Given the description of an element on the screen output the (x, y) to click on. 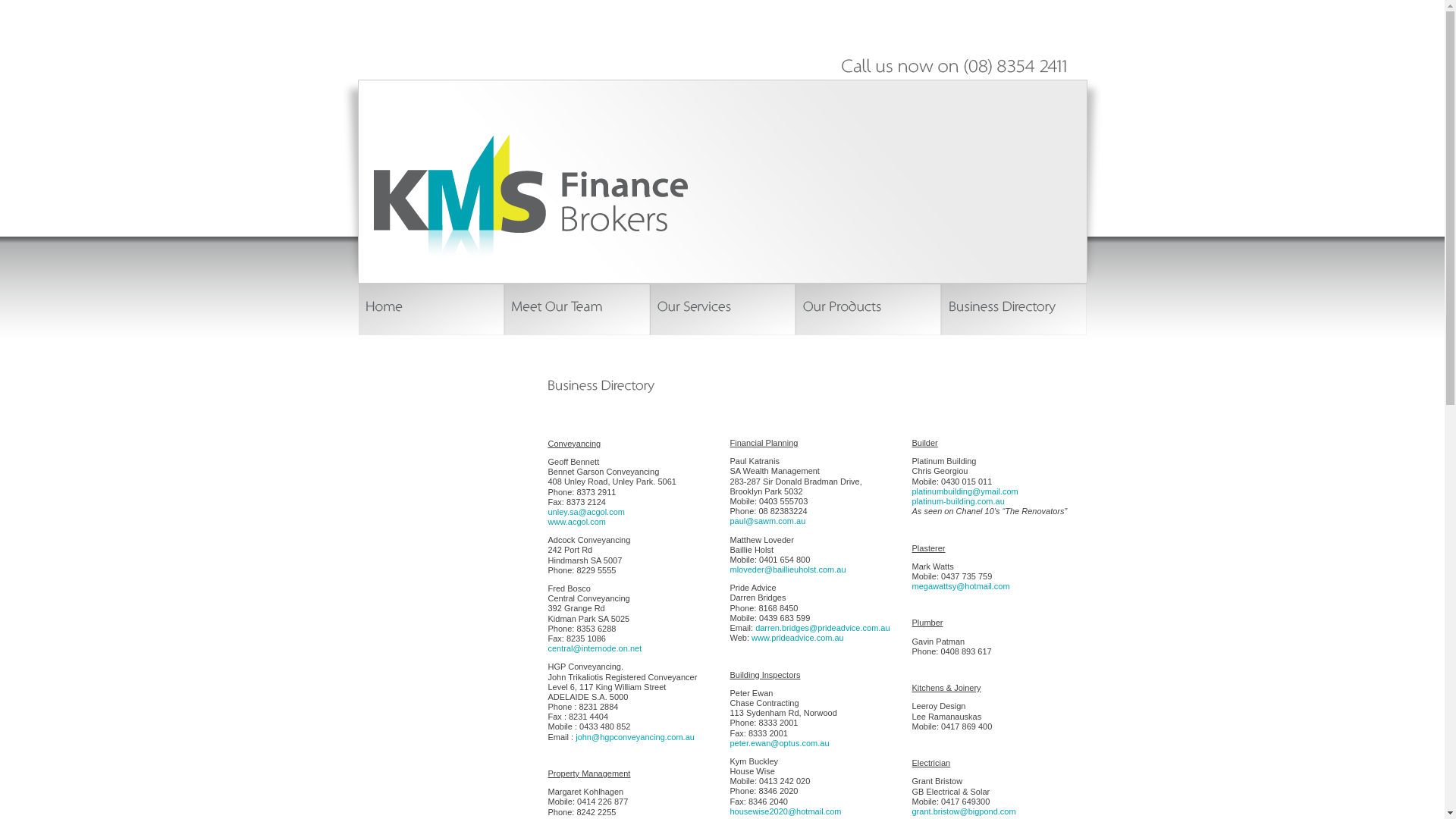
platinum-building.com.au Element type: text (957, 500)
www.prideadvice.com.au Element type: text (797, 637)
unley.sa@acgol.com Element type: text (585, 511)
mloveder@baillieuholst.com.au Element type: text (787, 569)
john@hgpconveyancing.com.au Element type: text (634, 736)
www.acgol.com Element type: text (576, 521)
housewise2020@hotmail.com Element type: text (784, 810)
paul@sawm.com.au Element type: text (767, 520)
megawattsy@hotmail.com Element type: text (960, 585)
platinumbuilding@ymail.com Element type: text (964, 490)
central@internode.on.net Element type: text (594, 647)
darren.bridges@prideadvice.com.au Element type: text (822, 627)
peter.ewan@optus.com.au Element type: text (778, 742)
grant.bristow@bigpond.com Element type: text (963, 810)
